Given the description of an element on the screen output the (x, y) to click on. 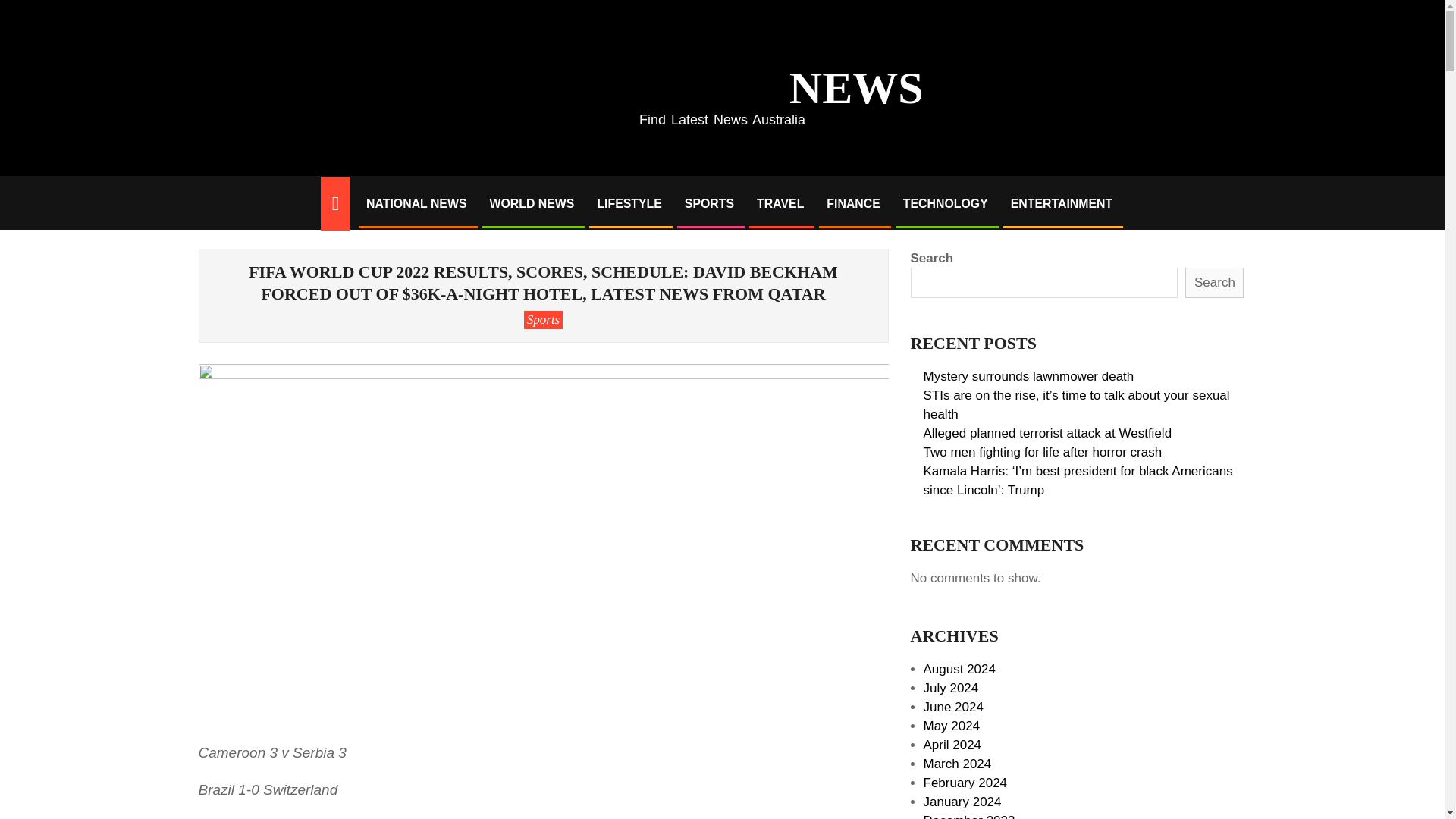
FINANCE (853, 203)
LIFESTYLE (628, 203)
ENTERTAINMENT (1061, 203)
AUSTRALIANEWS (721, 81)
Sports (543, 320)
SPORTS (708, 203)
TRAVEL (780, 203)
WORLD NEWS (531, 203)
NATIONAL NEWS (416, 203)
TECHNOLOGY (944, 203)
